Given the description of an element on the screen output the (x, y) to click on. 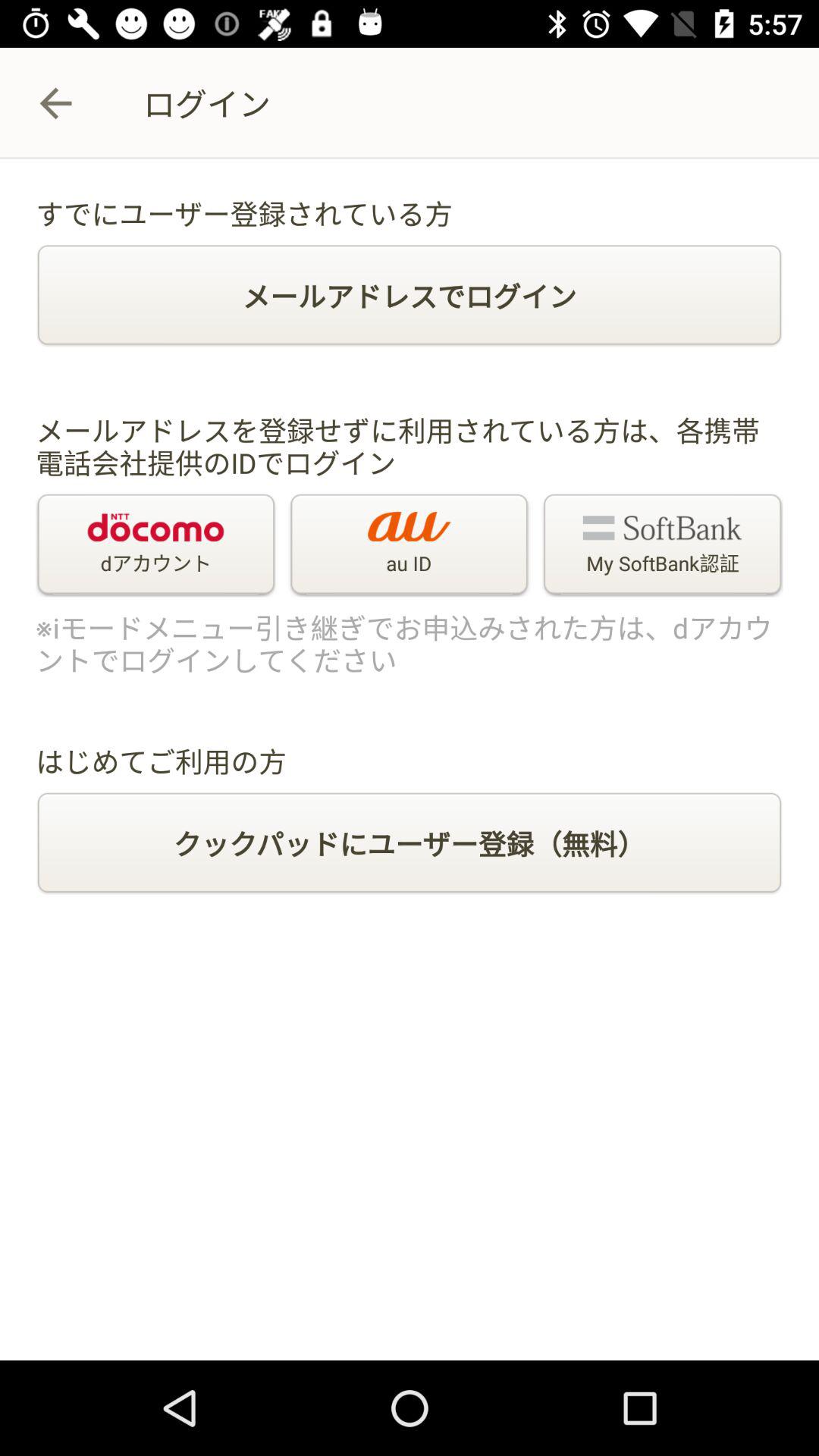
tap icon next to au id item (155, 545)
